Given the description of an element on the screen output the (x, y) to click on. 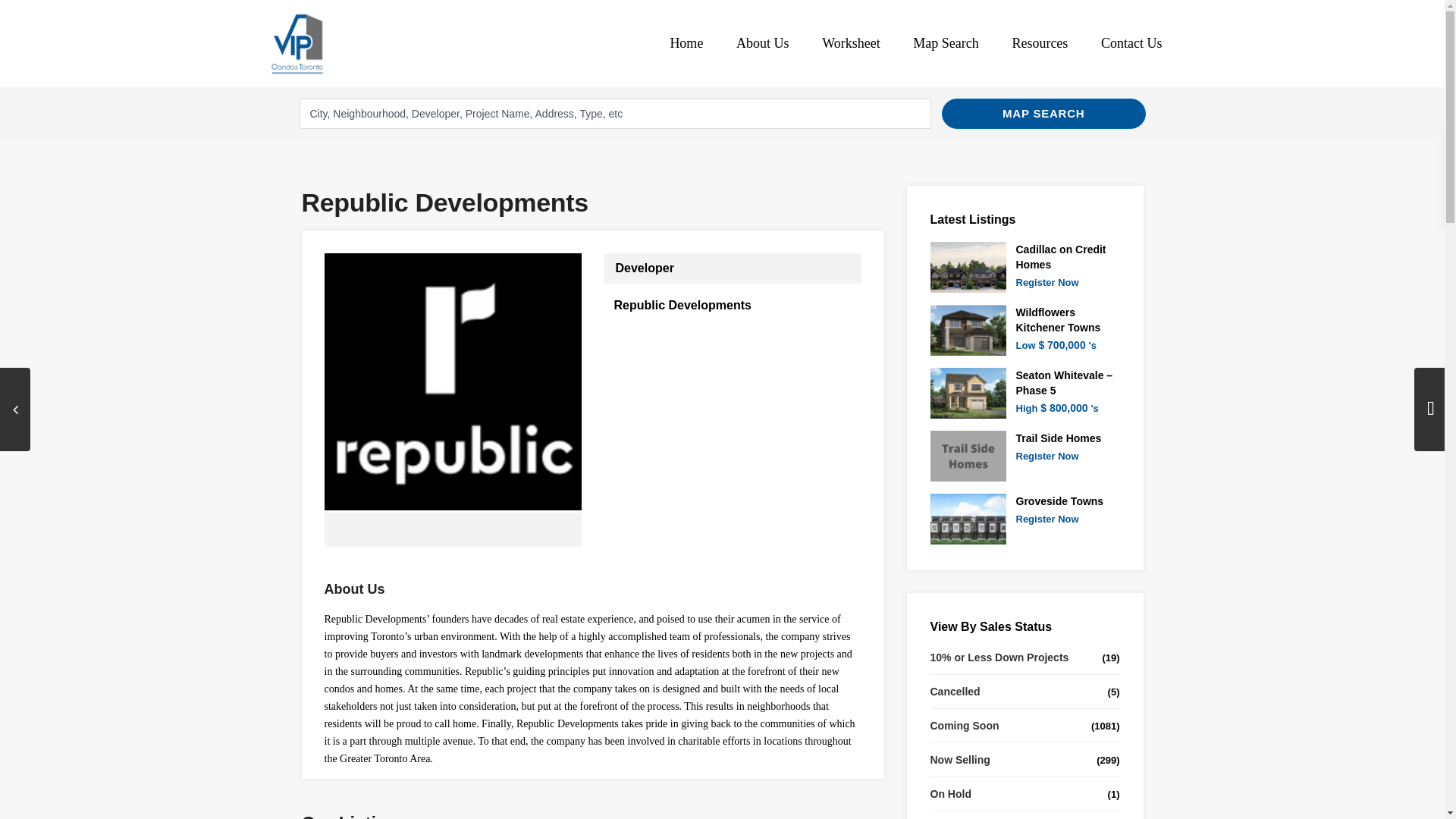
Map Search (944, 42)
Contact Us (1131, 42)
Worksheet (850, 42)
About Us (762, 42)
MAP SEARCH (1043, 113)
Home (685, 42)
Resources (1039, 42)
MAP SEARCH (1043, 113)
Republic Developments (682, 305)
